Given the description of an element on the screen output the (x, y) to click on. 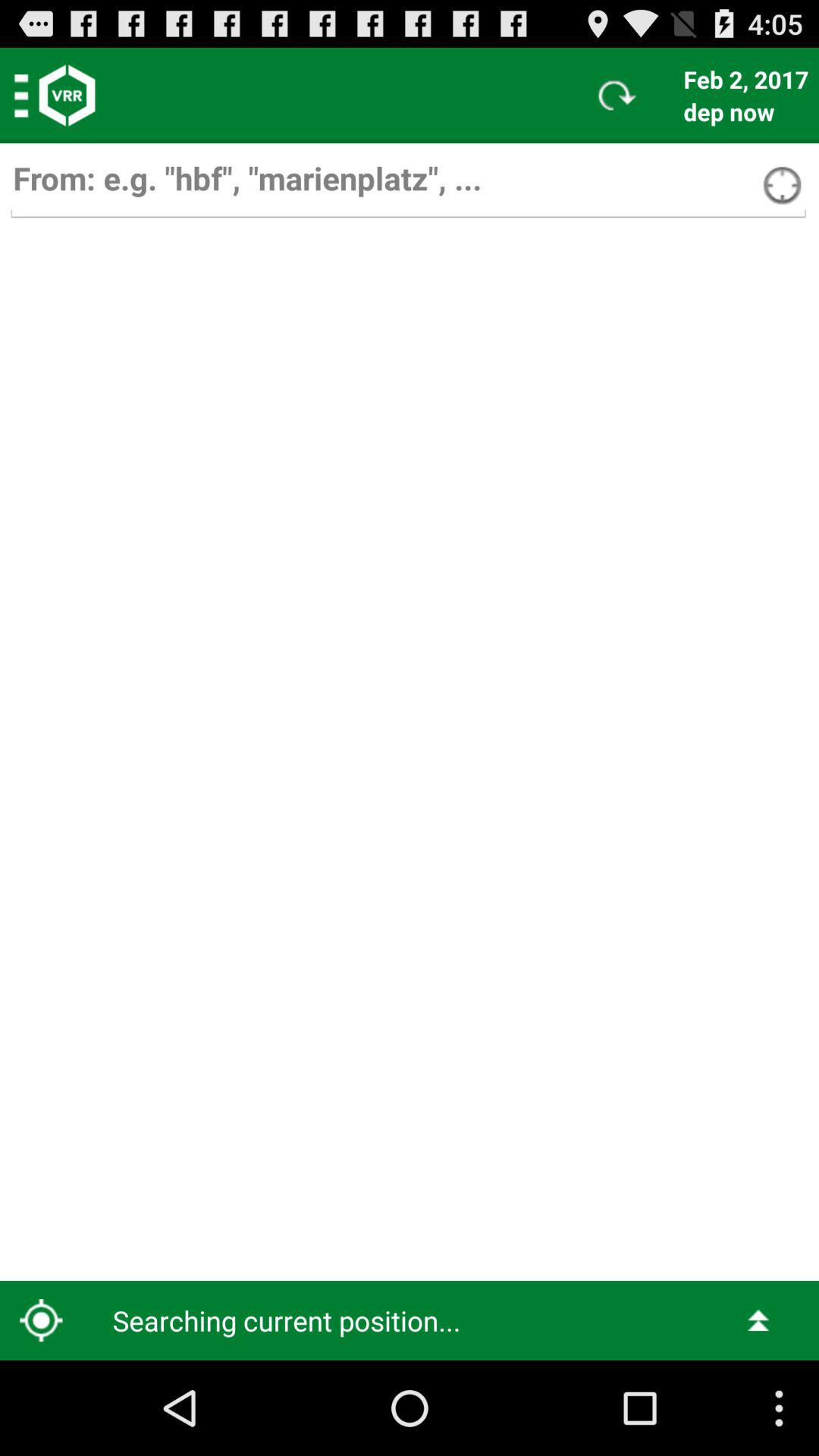
search box (407, 185)
